Given the description of an element on the screen output the (x, y) to click on. 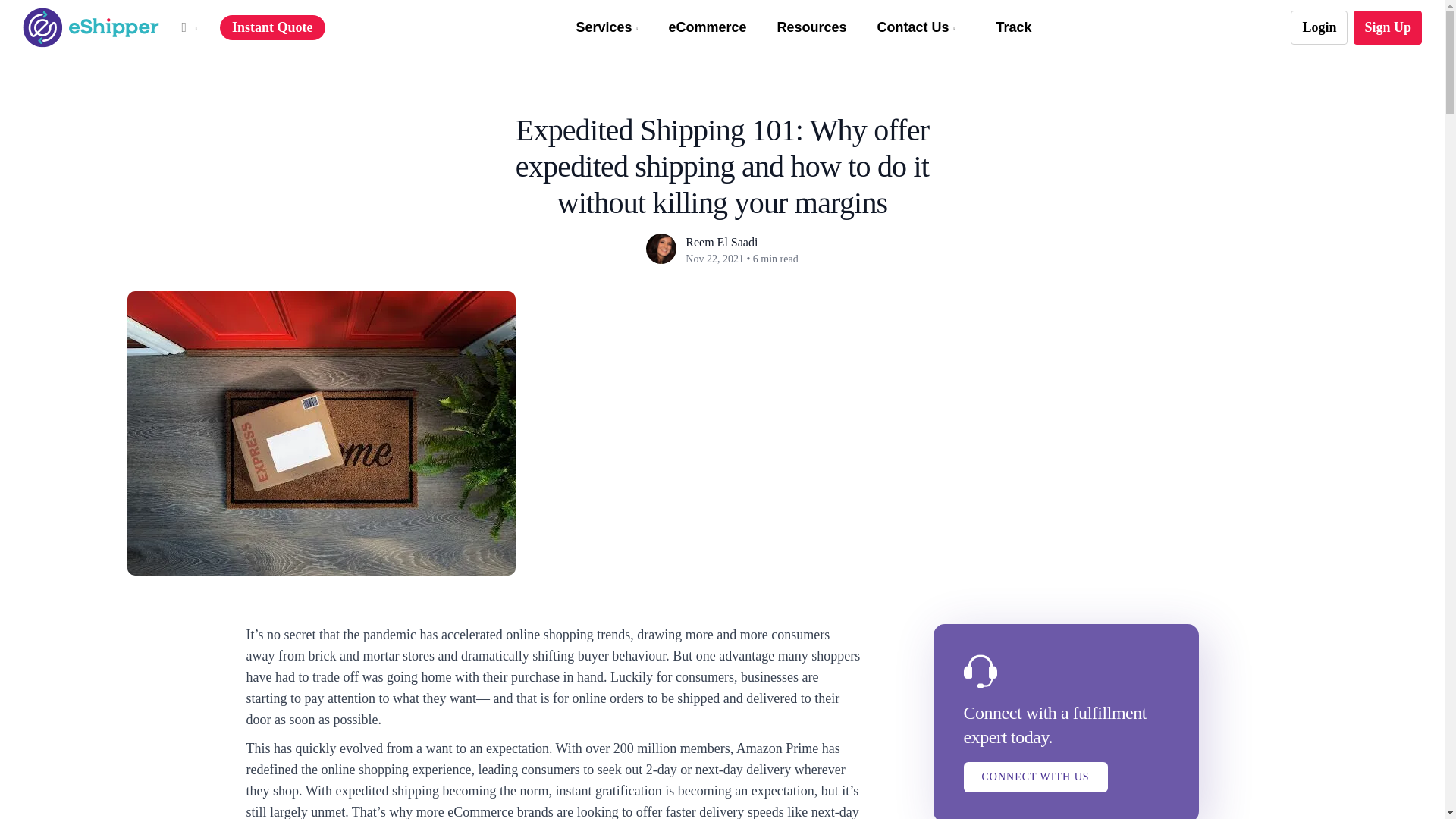
Track (1012, 27)
Start search (709, 5)
eCommerce (706, 27)
Login (1319, 27)
Contact Us (916, 27)
Instant Quote (271, 27)
Services (607, 27)
Resources (810, 27)
